Given the description of an element on the screen output the (x, y) to click on. 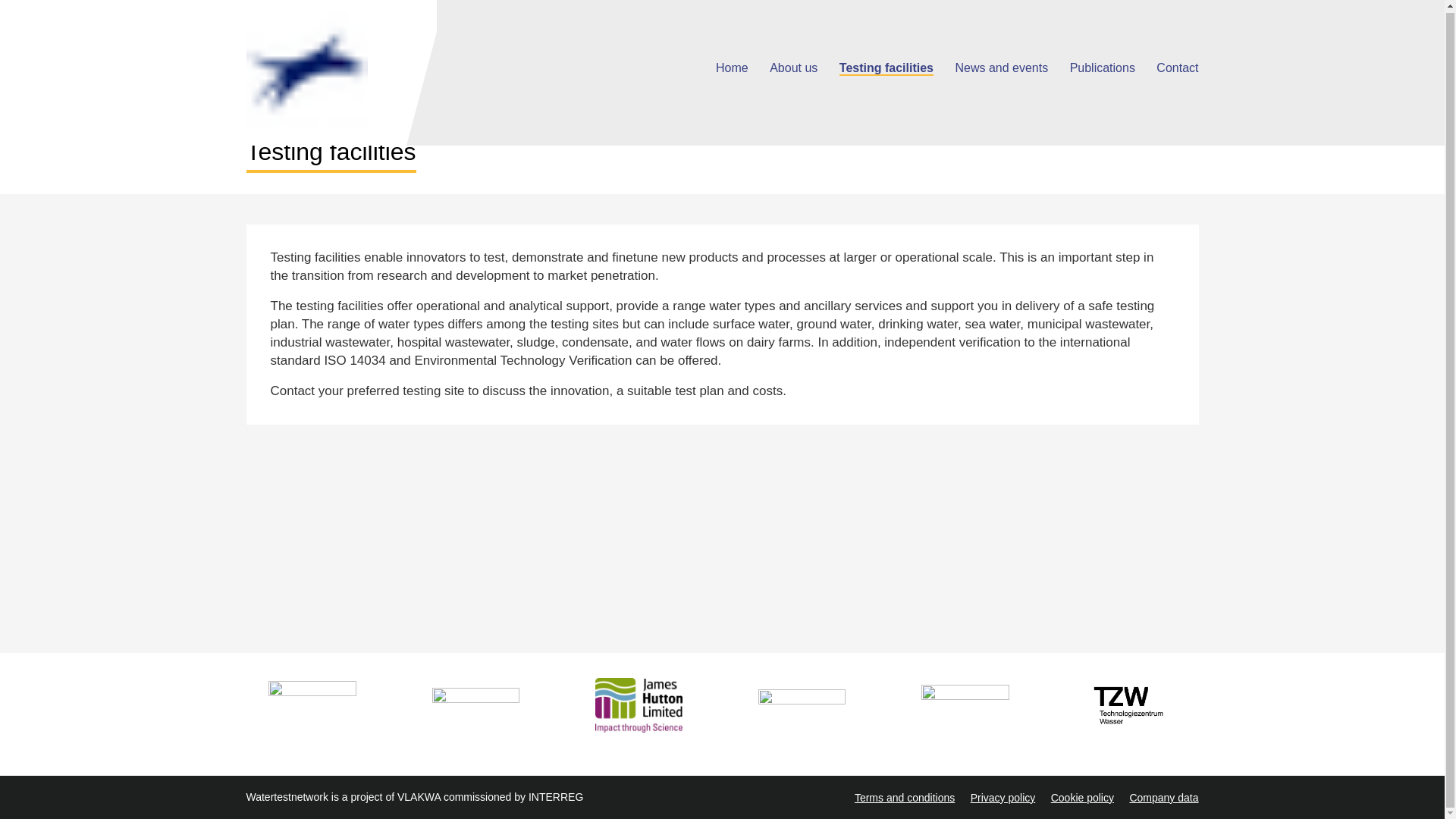
Terms and conditions (904, 797)
Cookie policy (1082, 797)
Home (340, 65)
TESTING FACILITIES (330, 92)
Contact (1177, 65)
Privacy policy (1003, 797)
HOME (263, 92)
Company data (1163, 797)
About us (793, 65)
Publications (1102, 65)
